Given the description of an element on the screen output the (x, y) to click on. 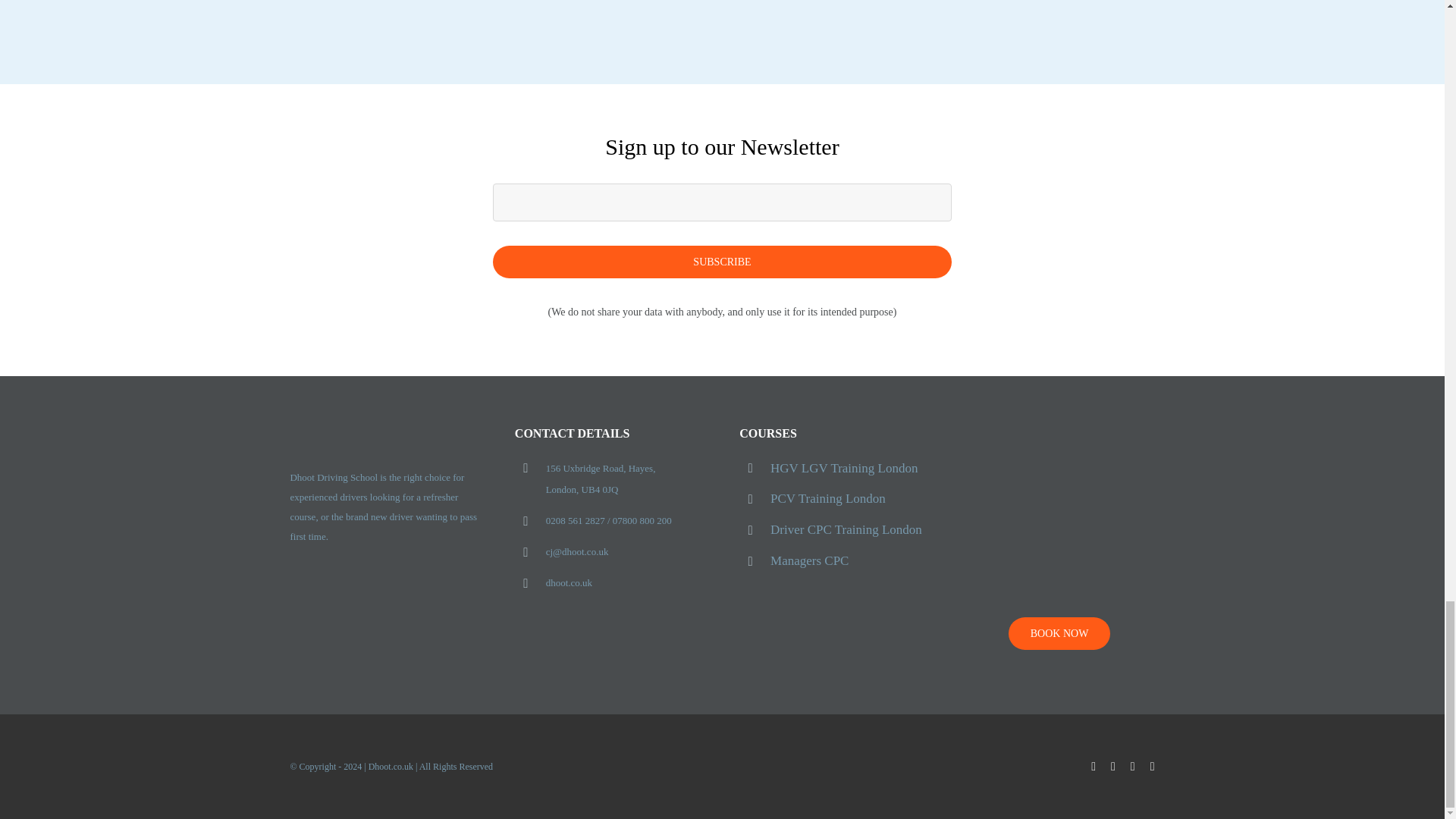
footer-ad-grid (1058, 513)
SUBSCRIBE (722, 230)
